Given the description of an element on the screen output the (x, y) to click on. 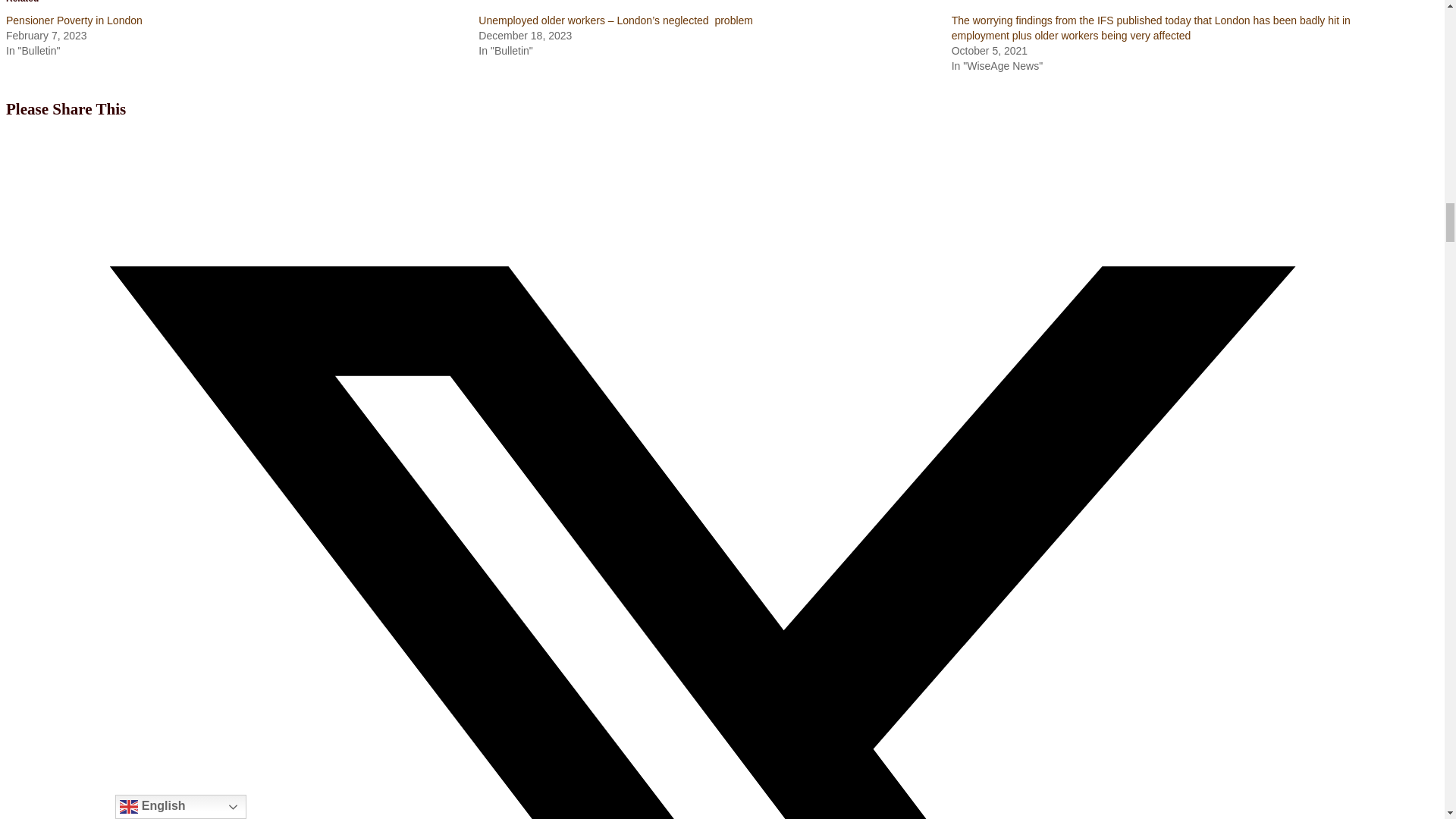
Pensioner Poverty in London (73, 20)
